Given the description of an element on the screen output the (x, y) to click on. 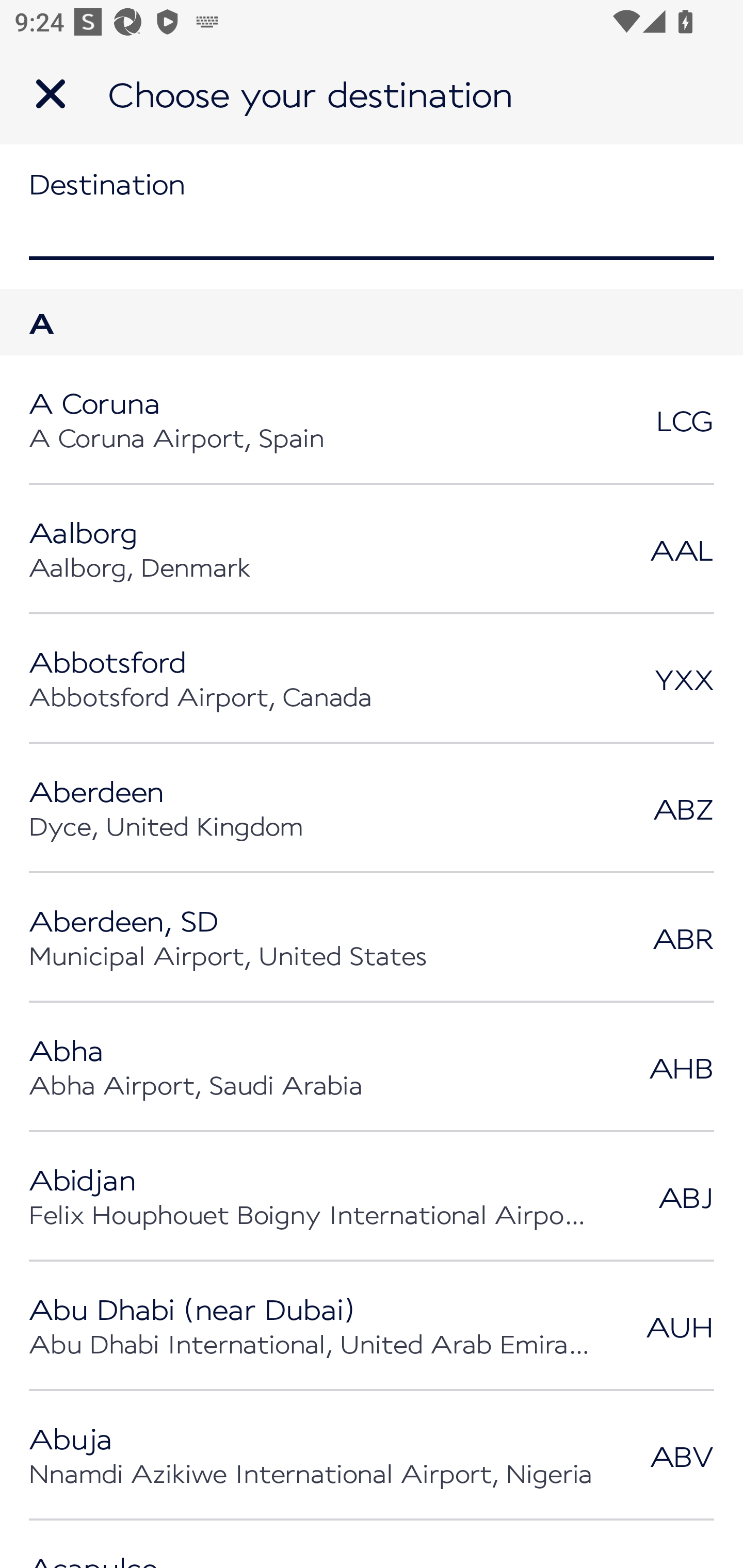
Navigate up (50, 93)
Destination (371, 216)
A Coruna A Coruna Airport, Spain LCG (371, 419)
Aalborg Aalborg, Denmark AAL (371, 549)
Abbotsford Abbotsford Airport, Canada YXX (371, 678)
Aberdeen Dyce, United Kingdom ABZ (371, 808)
Aberdeen, SD Municipal Airport, United States ABR (371, 937)
Abha Abha Airport, Saudi Arabia AHB (371, 1066)
